Given the description of an element on the screen output the (x, y) to click on. 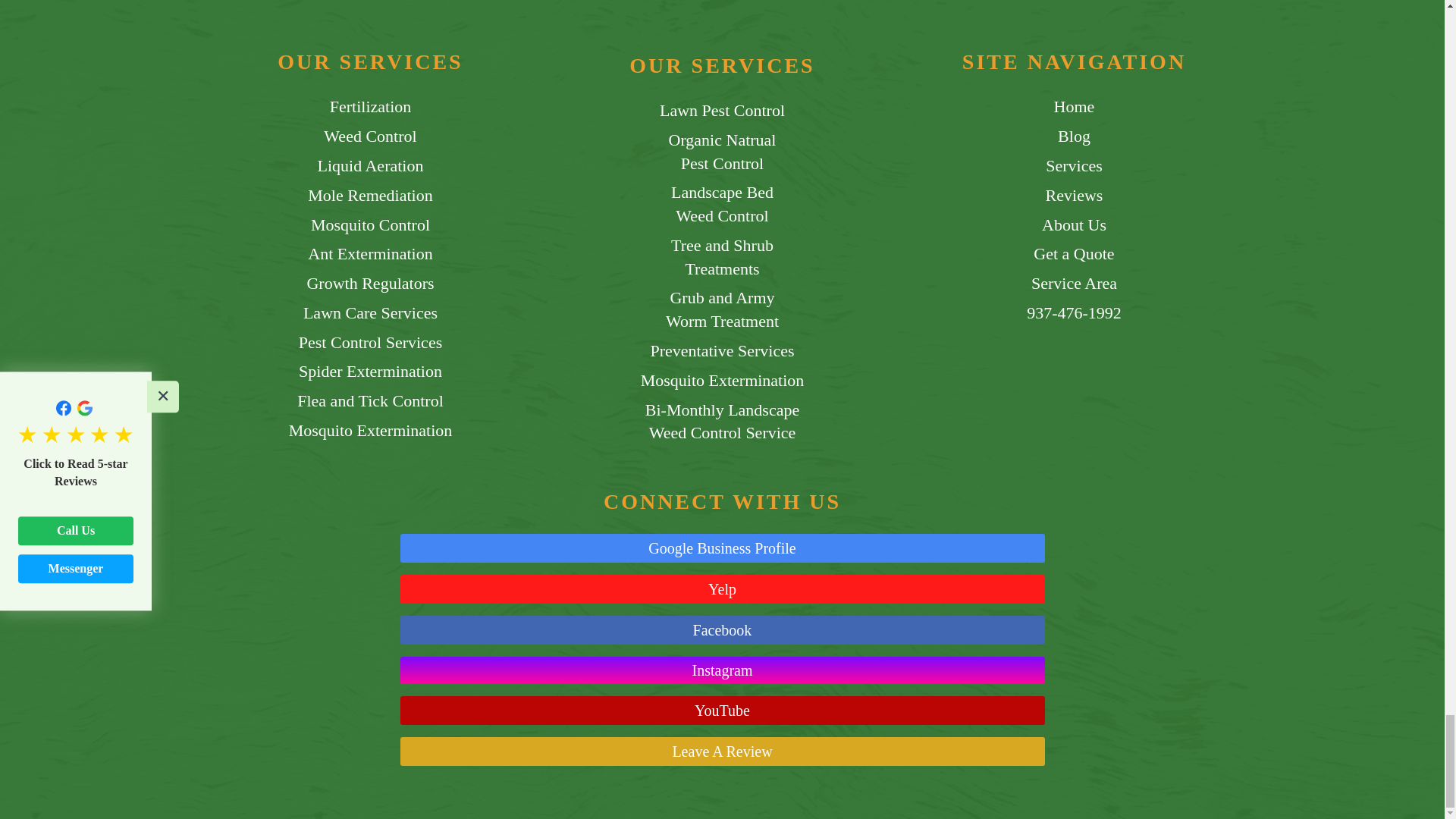
Fertilization (371, 106)
Weed Control (369, 136)
